Given the description of an element on the screen output the (x, y) to click on. 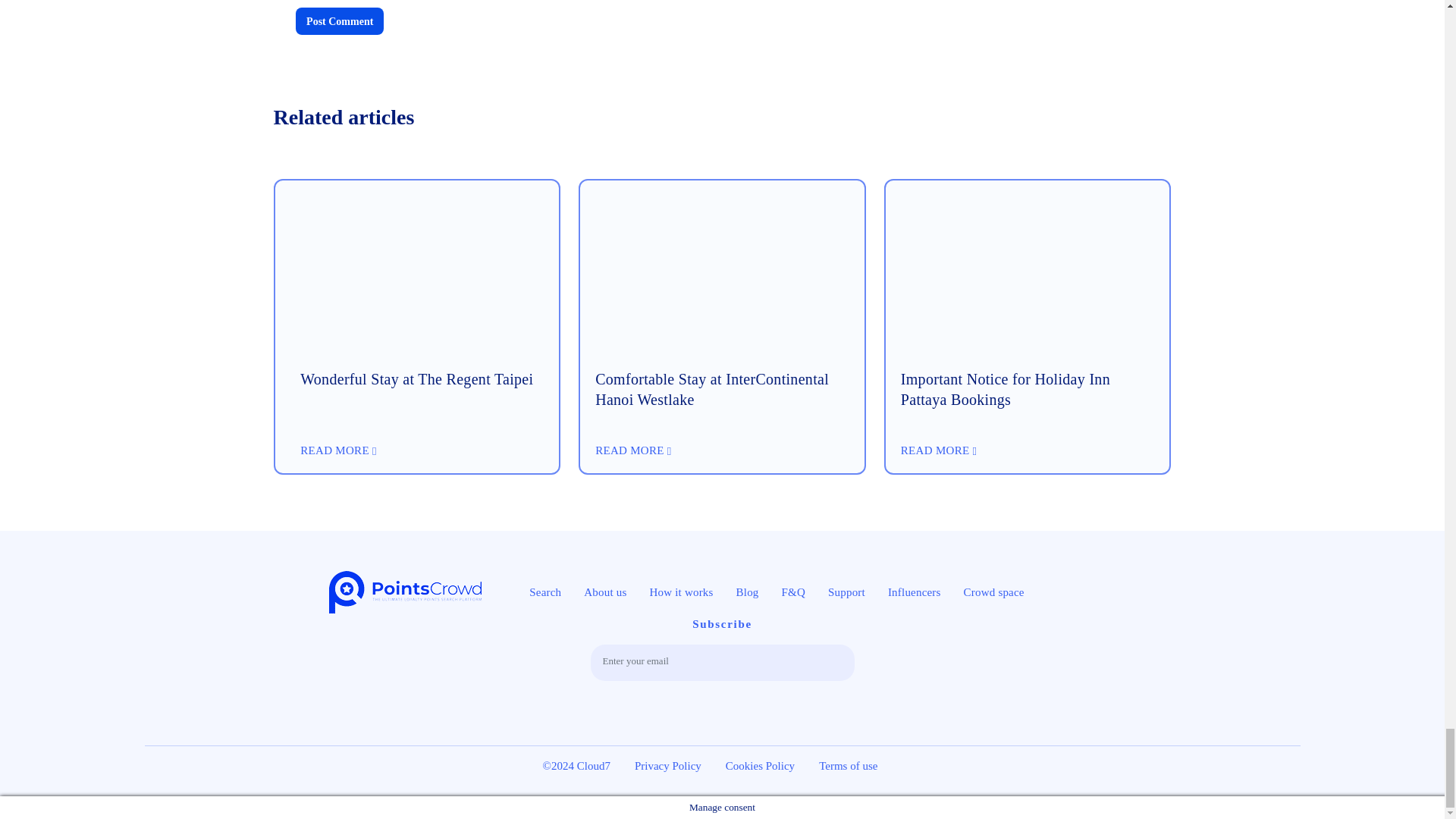
READ MORE (337, 450)
Post Comment (339, 21)
Comfortable Stay at InterContinental Hanoi Westlake (721, 401)
Wonderful Stay at The Regent Taipei (416, 276)
Important Notice for Holiday Inn Pattaya Bookings (1027, 401)
Post Comment (339, 21)
Wonderful Stay at The Regent Taipei (415, 401)
READ MORE (633, 450)
